Given the description of an element on the screen output the (x, y) to click on. 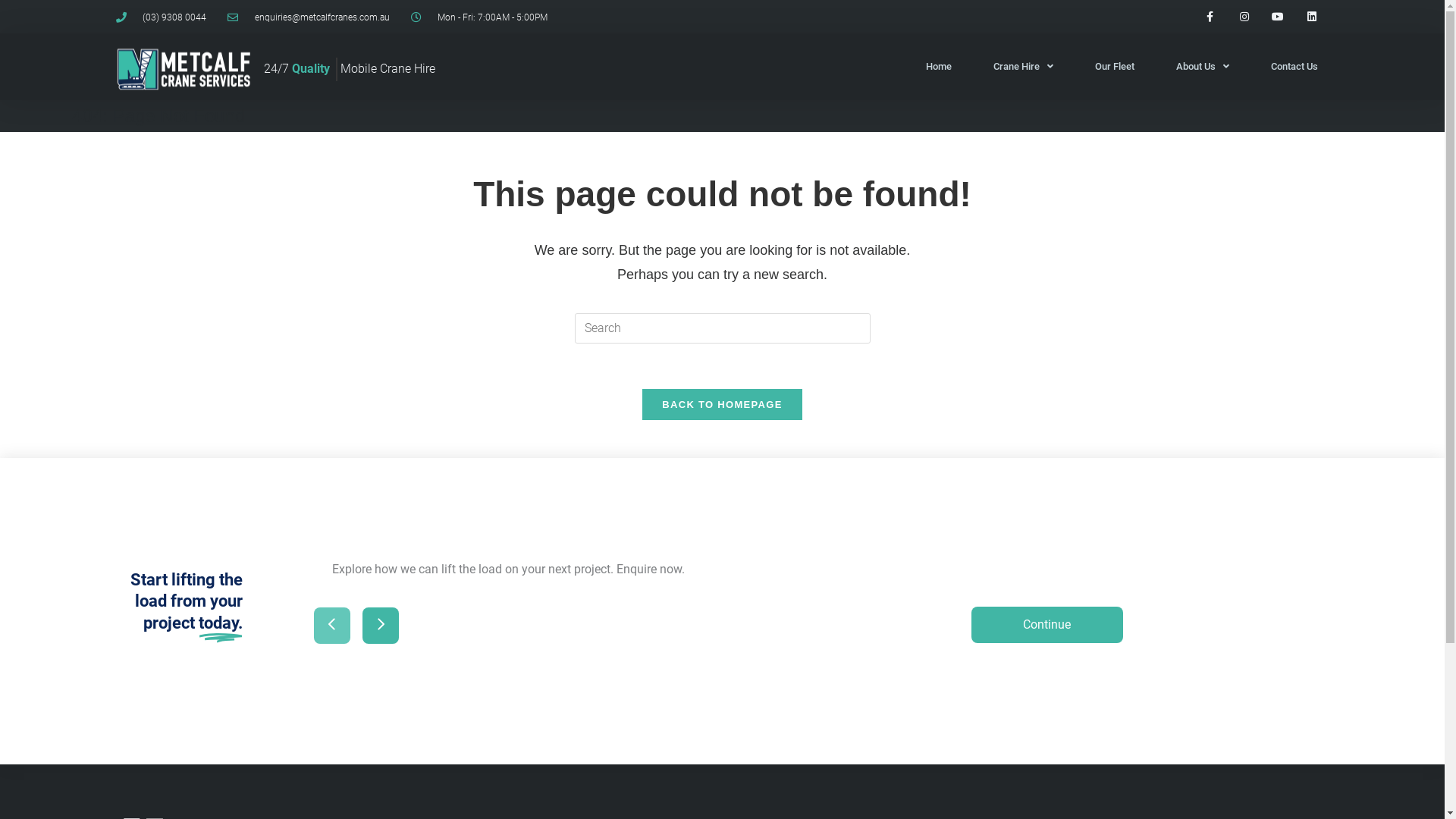
Home Element type: text (938, 66)
Crane Hire Element type: text (1023, 66)
BACK TO HOMEPAGE Element type: text (721, 404)
Our Fleet Element type: text (1114, 66)
About Us Element type: text (1201, 66)
Contact Us Element type: text (1294, 66)
